Given the description of an element on the screen output the (x, y) to click on. 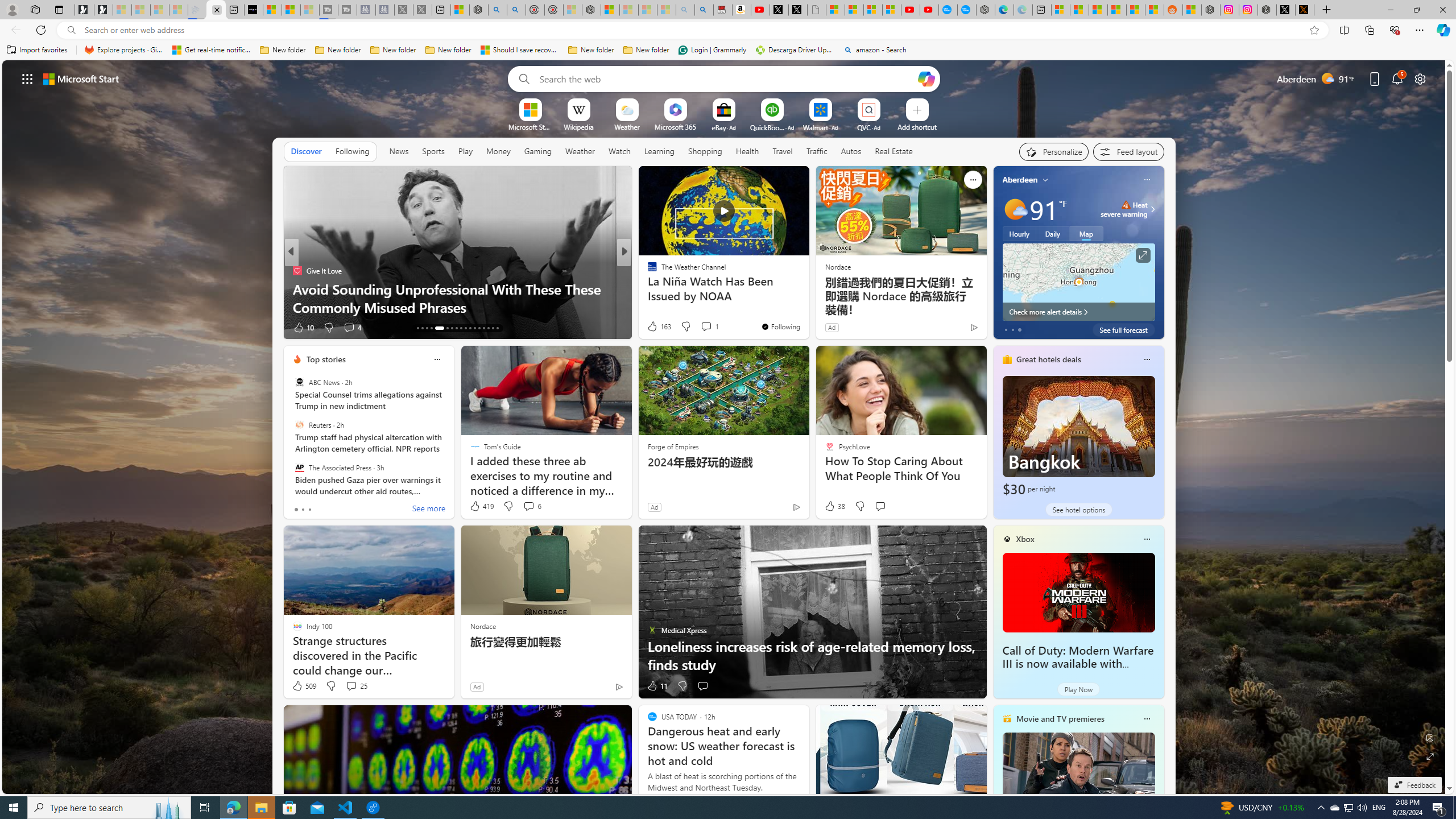
Mostly sunny (1014, 208)
Travel (782, 151)
YouTube Kids - An App Created for Kids to Explore Content (929, 9)
Hourly (1018, 233)
Map (1085, 233)
App launcher (27, 78)
AutomationID: tab-52 (492, 328)
